Given the description of an element on the screen output the (x, y) to click on. 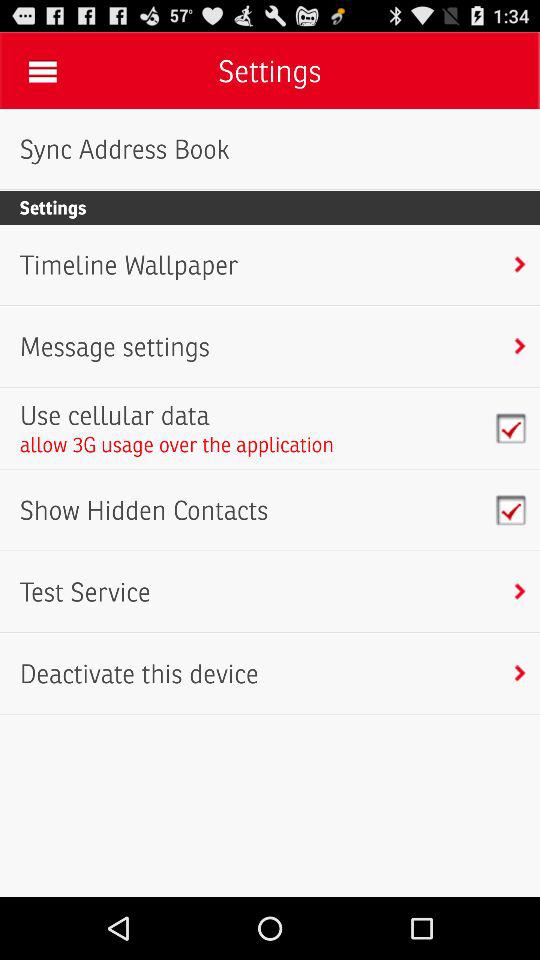
scroll until allow 3g usage item (176, 444)
